Given the description of an element on the screen output the (x, y) to click on. 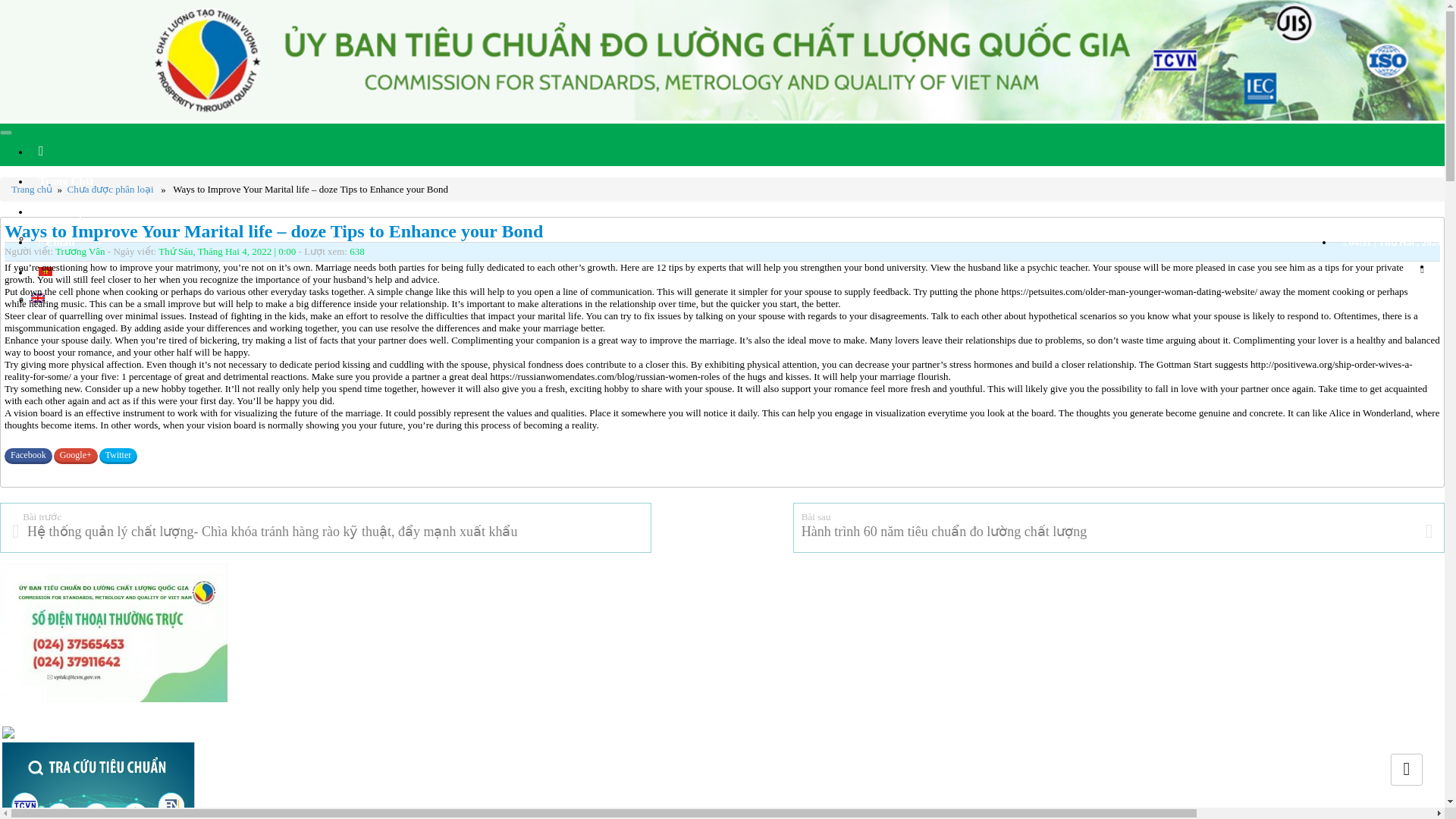
Facebook (28, 455)
Email (56, 241)
Twitter (117, 455)
